Given the description of an element on the screen output the (x, y) to click on. 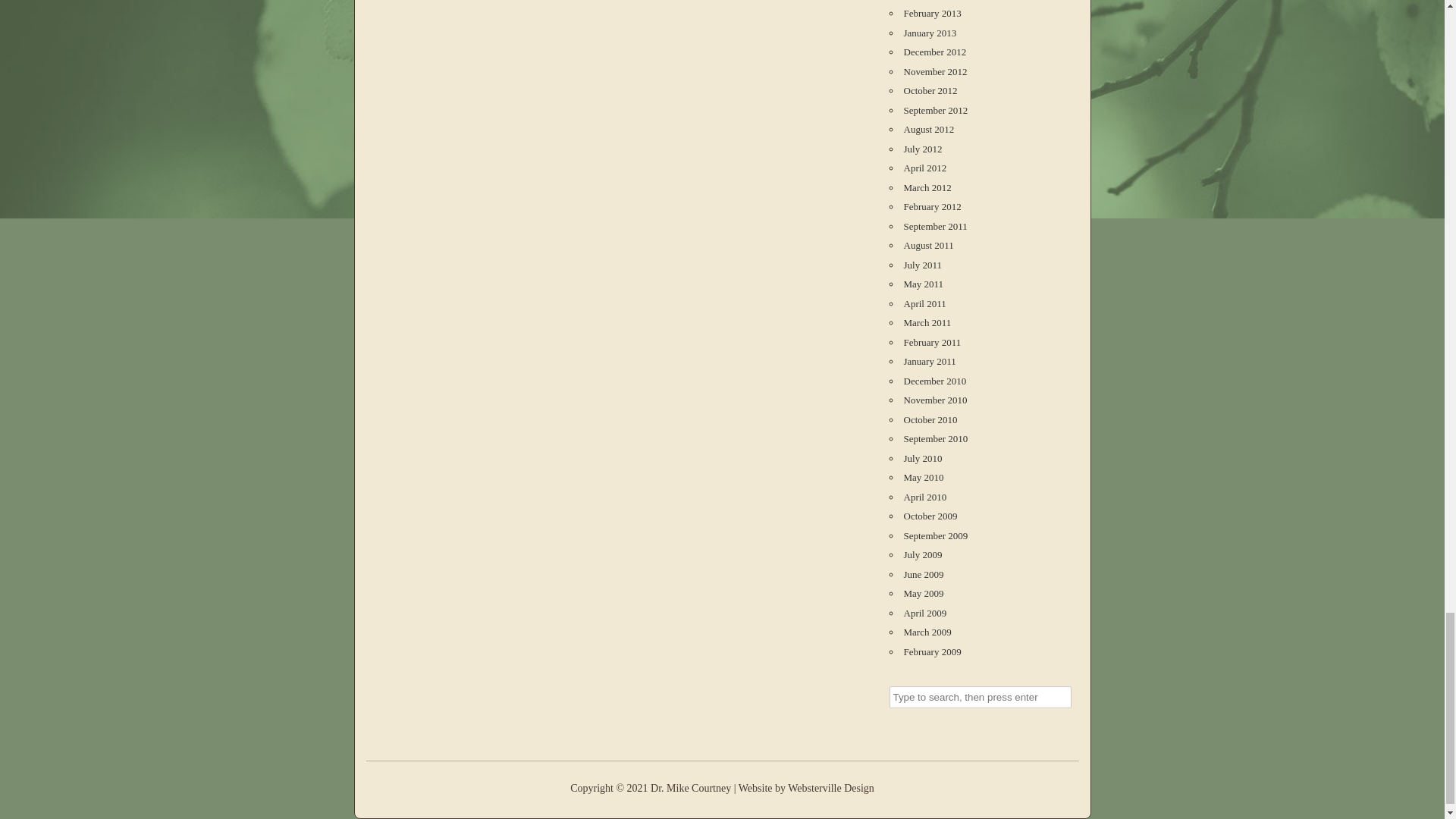
Type to search, then press enter (979, 697)
